Given the description of an element on the screen output the (x, y) to click on. 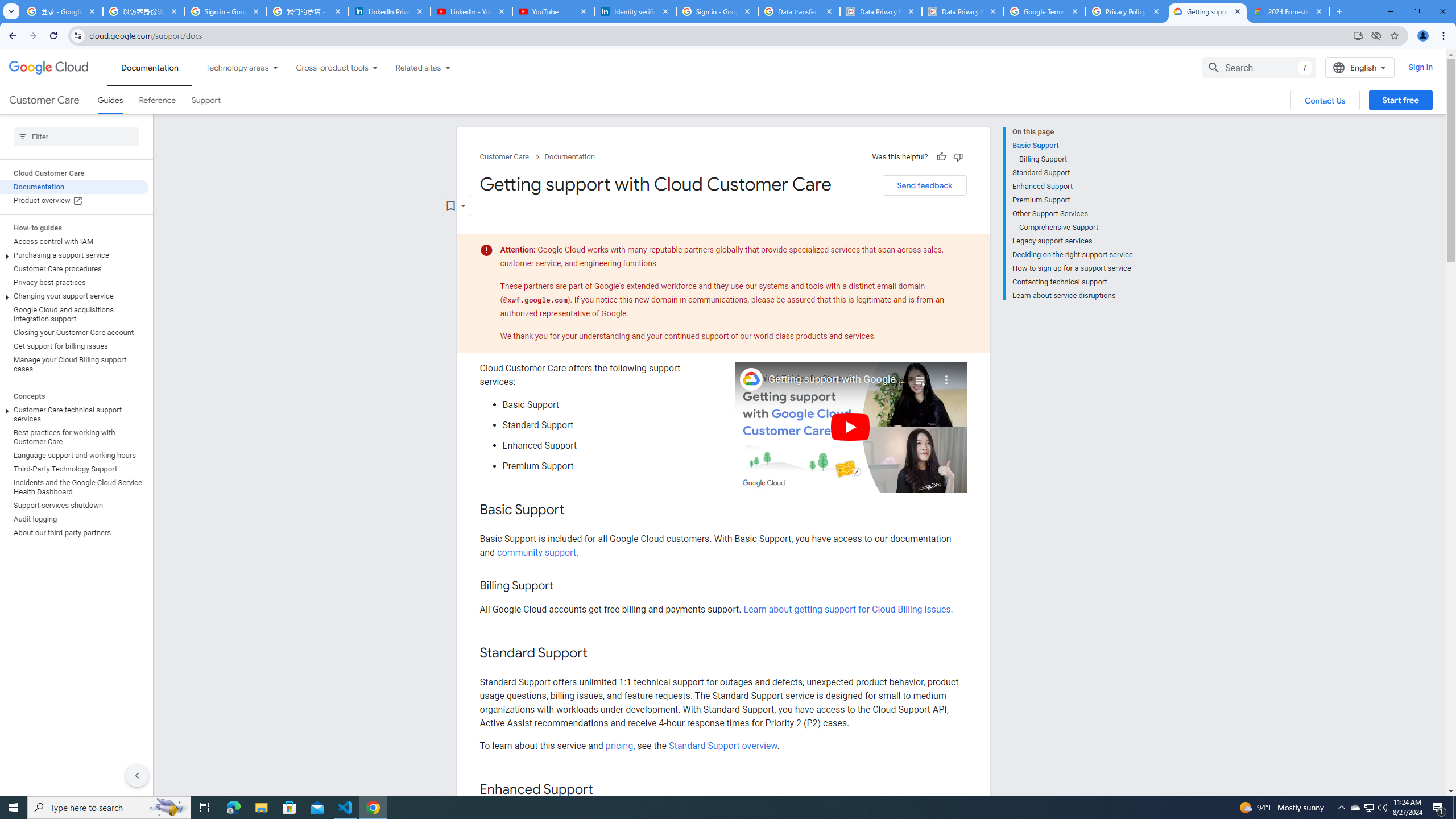
Deciding on the right support service (1071, 254)
Start free (1400, 100)
Sign in - Google Accounts (225, 11)
LinkedIn - YouTube (470, 11)
Related sites (411, 67)
Support (205, 99)
Dropdown menu for Related sites (447, 67)
How to sign up for a support service (1071, 268)
Copy link to this section: Standard Support (599, 653)
Playlist (919, 375)
Third-Party Technology Support (74, 468)
Product overview (74, 200)
